Given the description of an element on the screen output the (x, y) to click on. 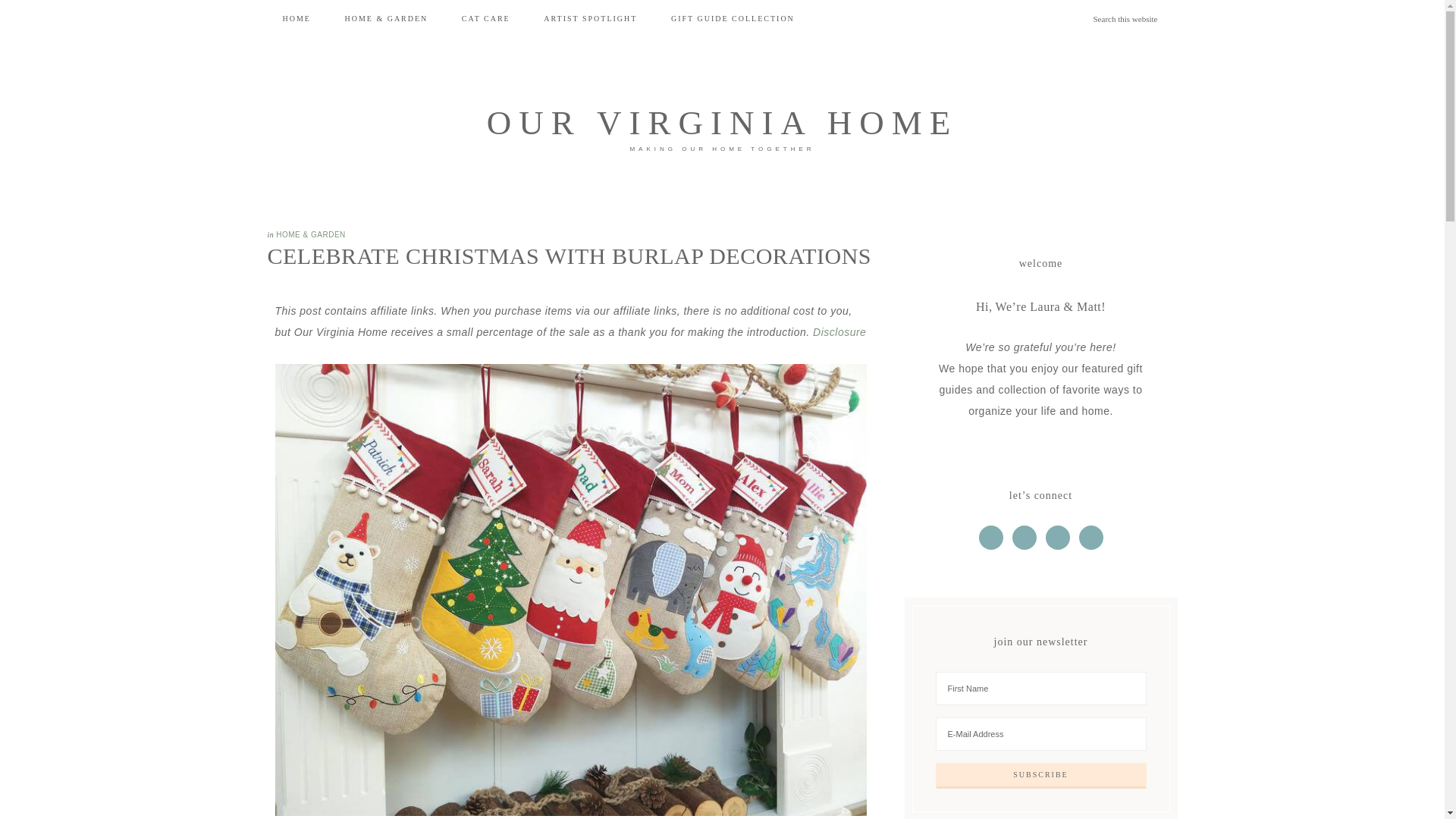
Subscribe (1041, 775)
GIFT GUIDE COLLECTION (732, 18)
CAT CARE (485, 18)
Subscribe (1041, 775)
Disclosure (839, 331)
HOME (295, 18)
OUR VIRGINIA HOME (722, 122)
